Given the description of an element on the screen output the (x, y) to click on. 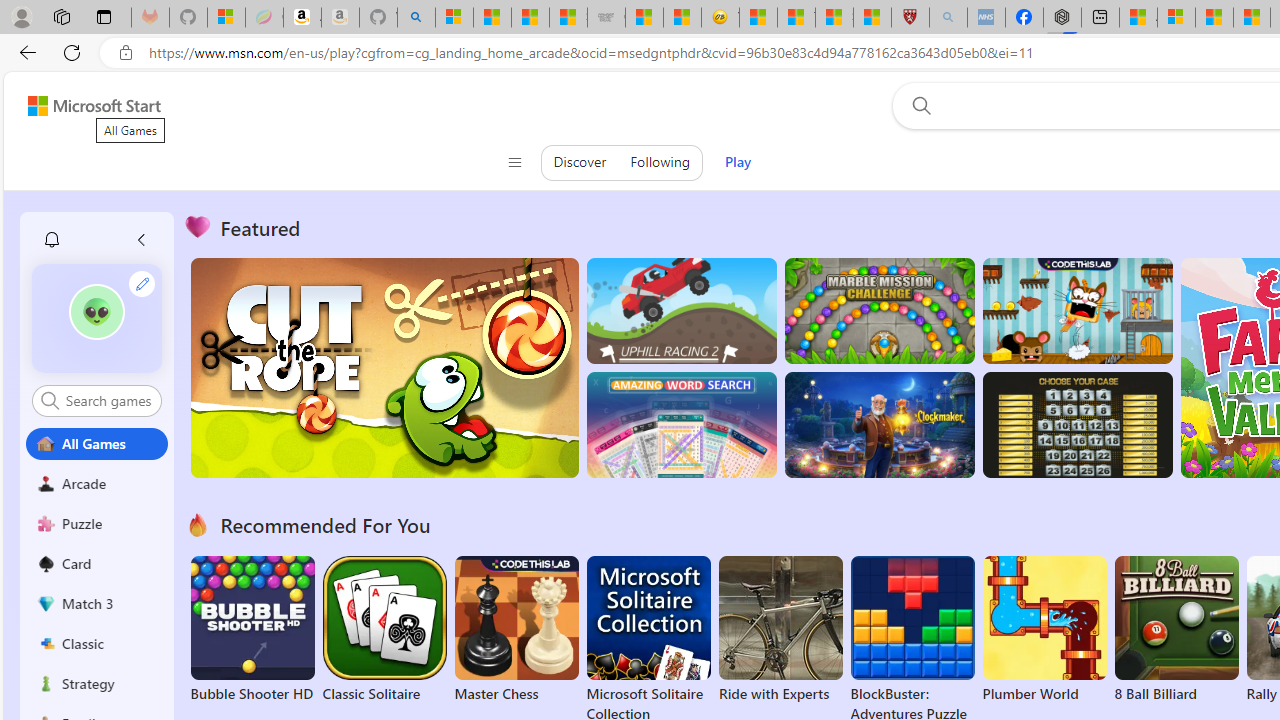
Cut the Rope (383, 367)
Marble Mission : Challenge (879, 310)
Deal or No Deal (1076, 425)
Bubble Shooter HD (251, 629)
Robert H. Shmerling, MD - Harvard Health (910, 17)
